Given the description of an element on the screen output the (x, y) to click on. 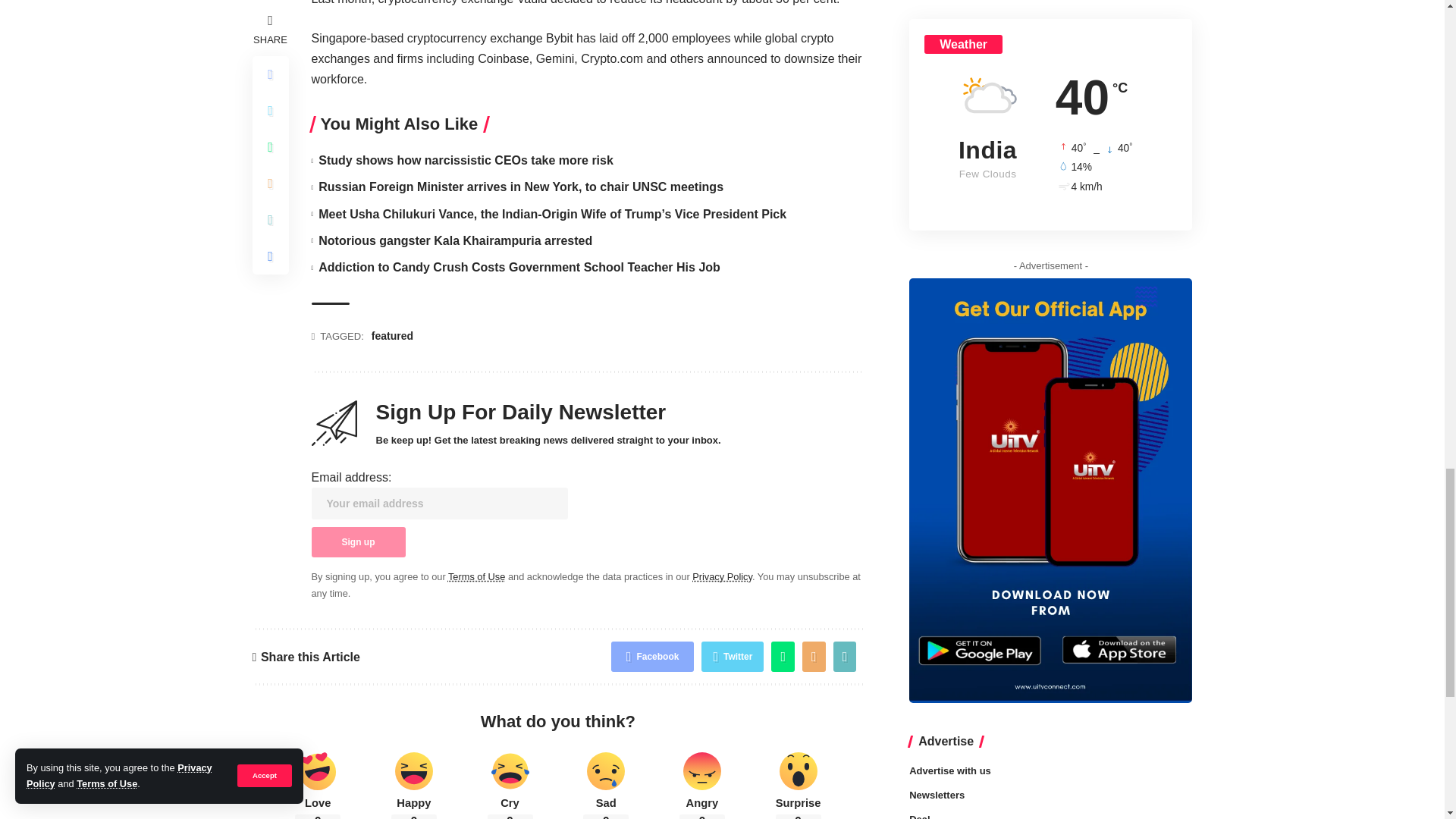
Sign up (357, 542)
